Given the description of an element on the screen output the (x, y) to click on. 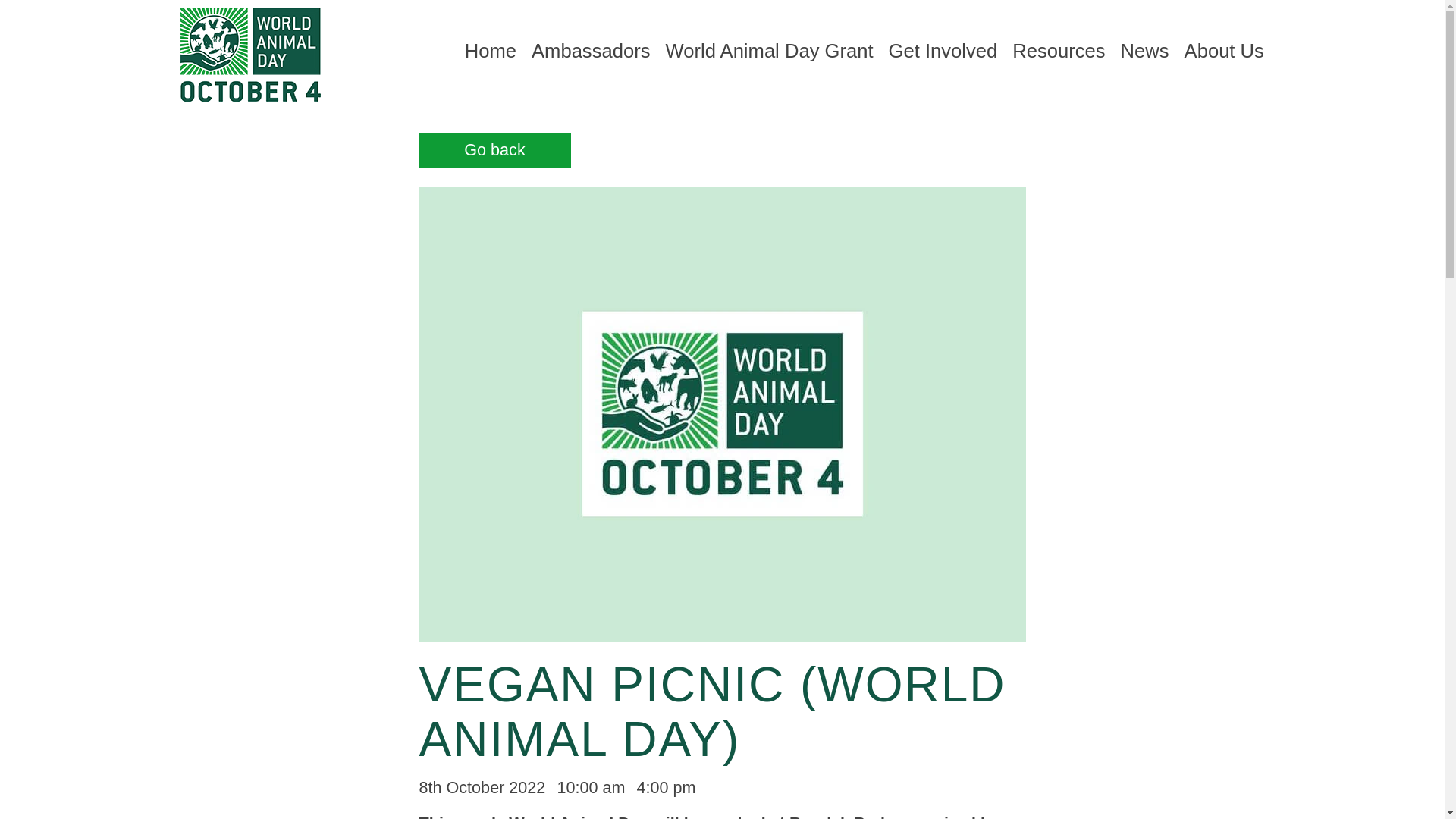
World Animal Day (250, 56)
World Animal Day Grant (769, 51)
About Us (1224, 51)
Home (490, 51)
News (1145, 51)
Go back (494, 149)
Resources (1058, 51)
Skip to main content (74, 9)
Get Involved (942, 51)
Ambassadors (590, 51)
